Given the description of an element on the screen output the (x, y) to click on. 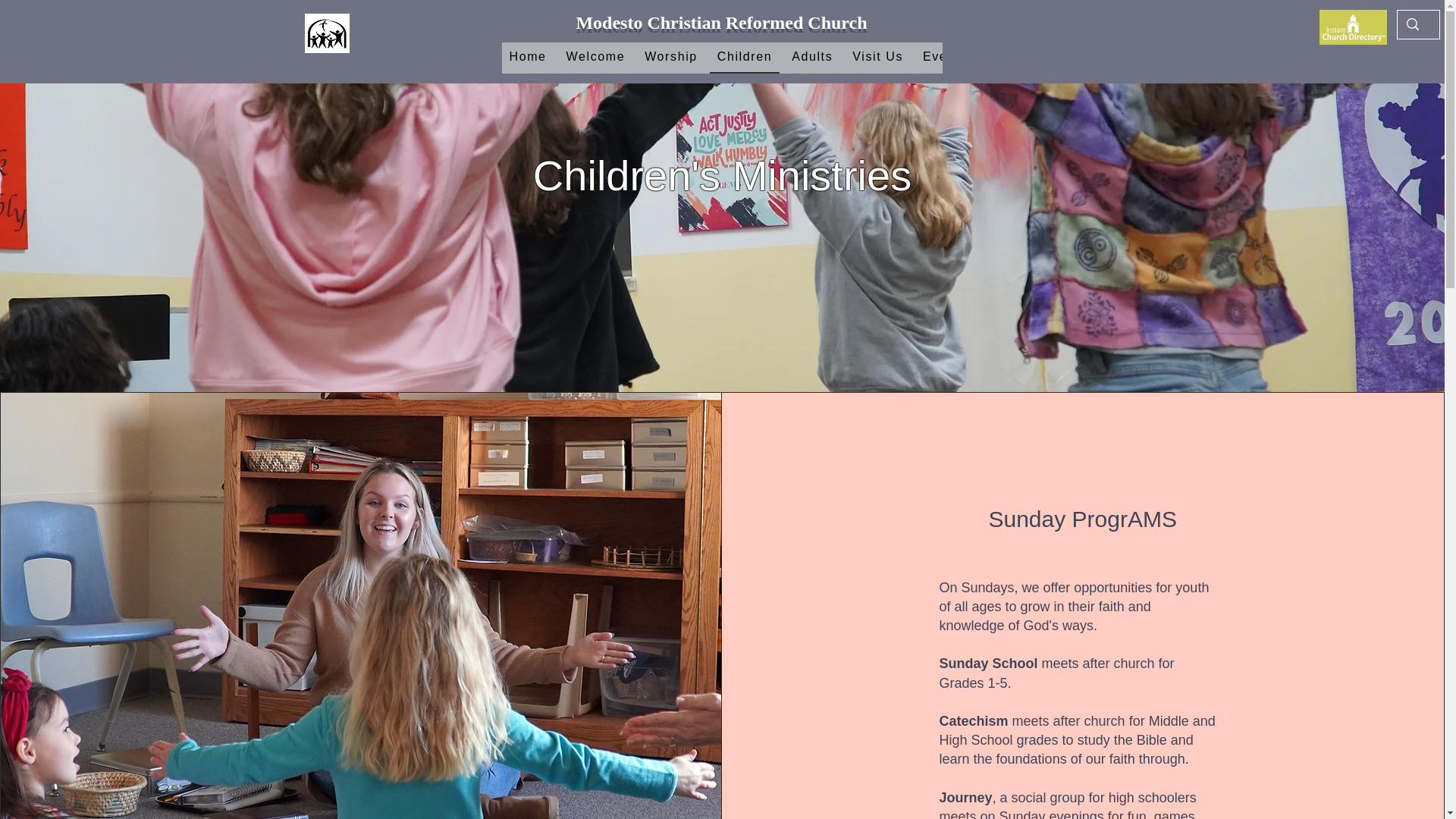
Adults (812, 57)
Click for church directory (1353, 27)
Visit Us (877, 57)
Welcome (596, 57)
Giving (1182, 57)
Children (744, 57)
The Word (1110, 57)
Job Openings (1267, 57)
Events (945, 57)
We Believe (1023, 57)
Worship (670, 57)
Home (528, 57)
